Given the description of an element on the screen output the (x, y) to click on. 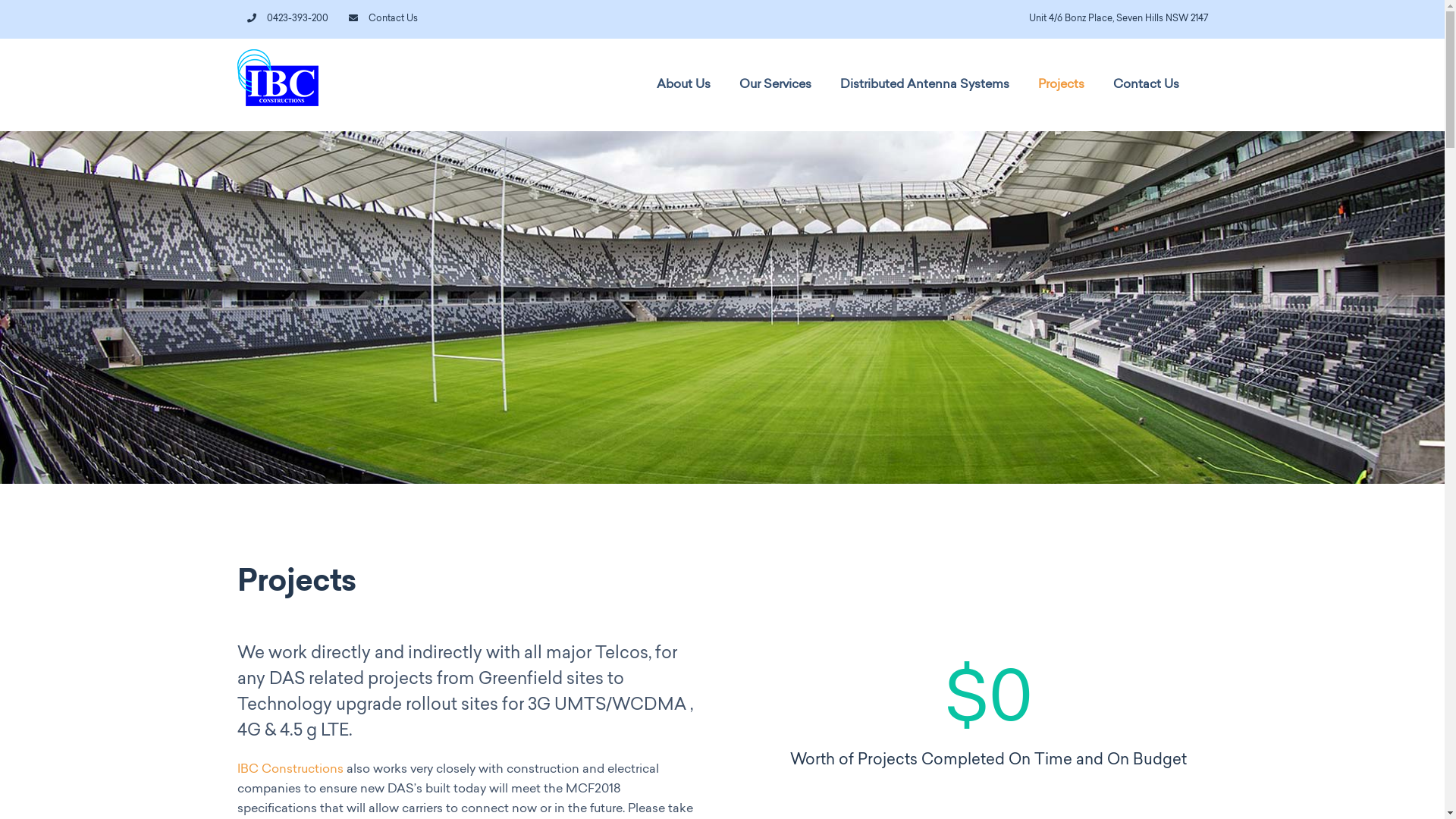
Contact Us Element type: text (382, 18)
About Us Element type: text (683, 84)
IBC Constructions Element type: text (289, 769)
Projects Element type: text (1060, 84)
Distributed Antenna Systems Element type: text (924, 84)
0423-393-200 Element type: text (286, 18)
Contact Us Element type: text (1146, 84)
Our Services Element type: text (774, 84)
